Given the description of an element on the screen output the (x, y) to click on. 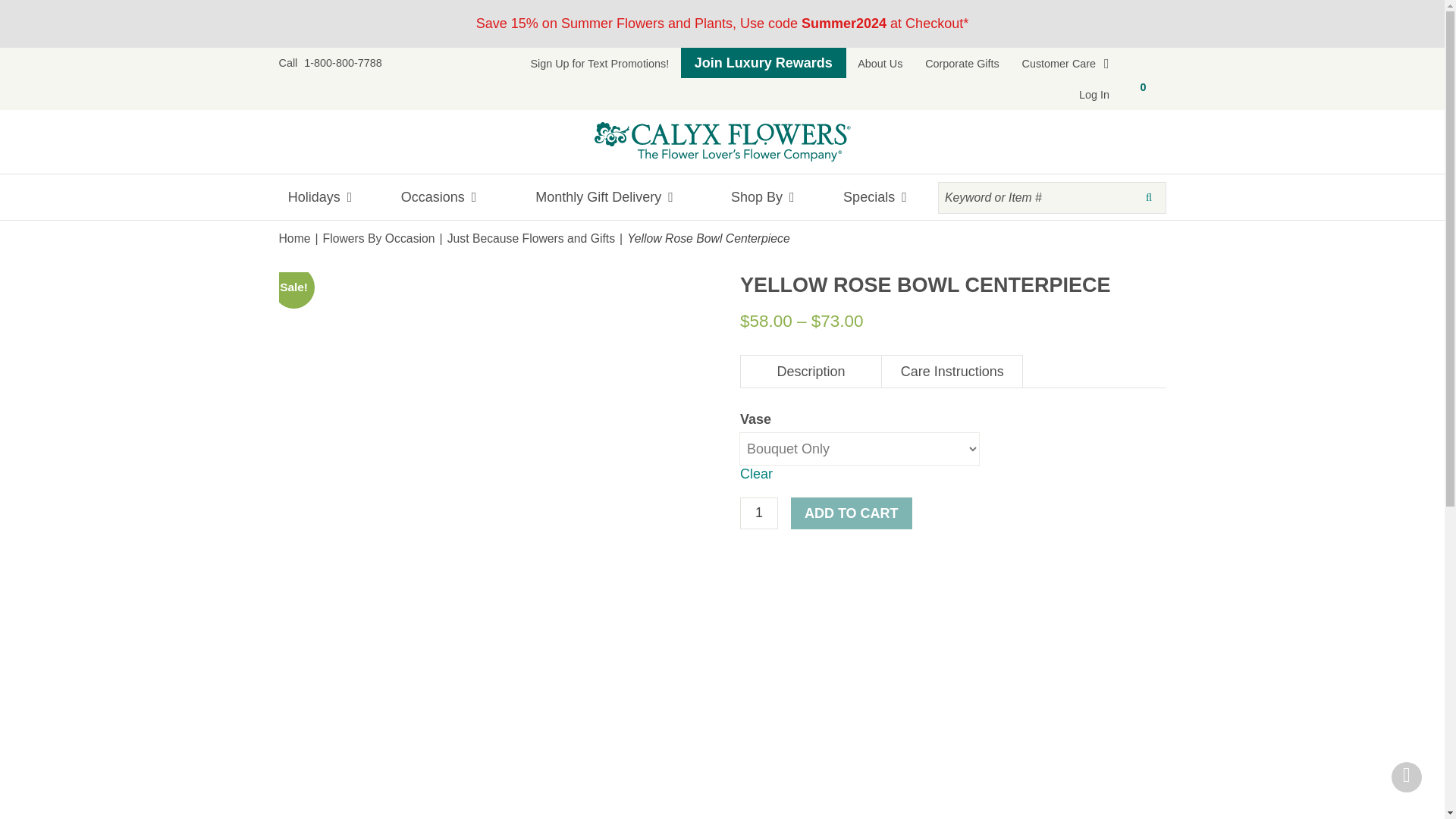
Holidays (327, 197)
Occasions (438, 197)
Sign Up for Text Promotions! (599, 63)
About Us (880, 63)
Customer Care (1064, 63)
Corporate Gifts (962, 63)
Log In (1094, 94)
0 (1143, 93)
Join Luxury Rewards (763, 62)
About Us (880, 63)
